Given the description of an element on the screen output the (x, y) to click on. 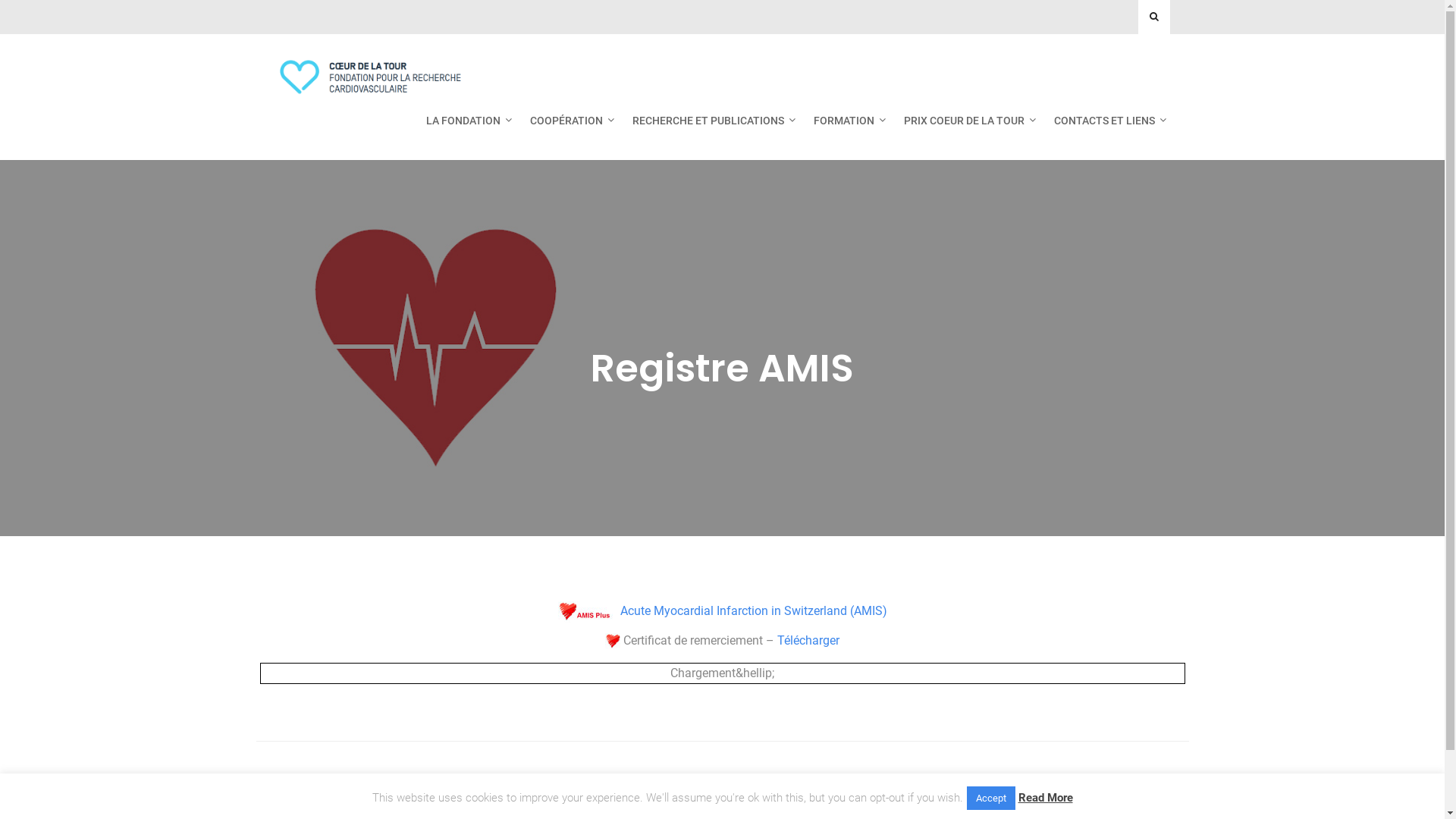
CONTACTS ET LIENS Element type: text (1105, 120)
PRIX COEUR DE LA TOUR Element type: text (964, 120)
  Acute Myocardial Infarction in Switzerland (AMIS) Element type: text (722, 610)
Read More Element type: text (1044, 797)
FORMATION Element type: text (845, 120)
Accept Element type: text (990, 797)
LA FONDATION Element type: text (464, 120)
RECHERCHE ET PUBLICATIONS Element type: text (709, 120)
